Given the description of an element on the screen output the (x, y) to click on. 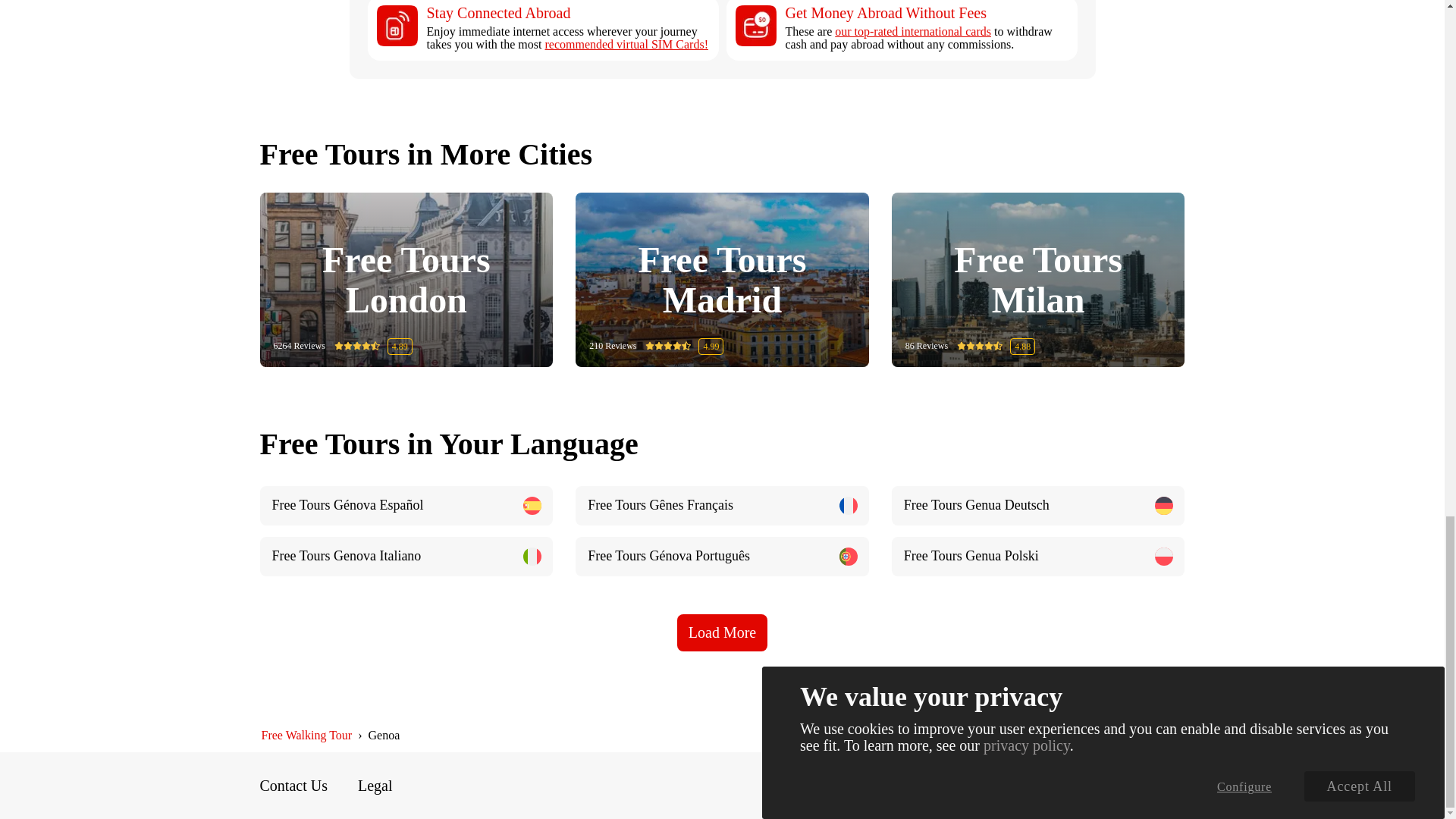
Free Tours Genua Deutsch (1038, 505)
Free Tours Genua Polski (1038, 556)
Free Tours Genova Italiano (406, 556)
recommended virtual SIM Cards! (625, 43)
our top-rated international cards (912, 31)
Free Tours Madrid (722, 279)
Free Tours London (405, 279)
Load More (722, 632)
Free Walking Tour (306, 735)
Free Tours Milan (1038, 279)
